Given the description of an element on the screen output the (x, y) to click on. 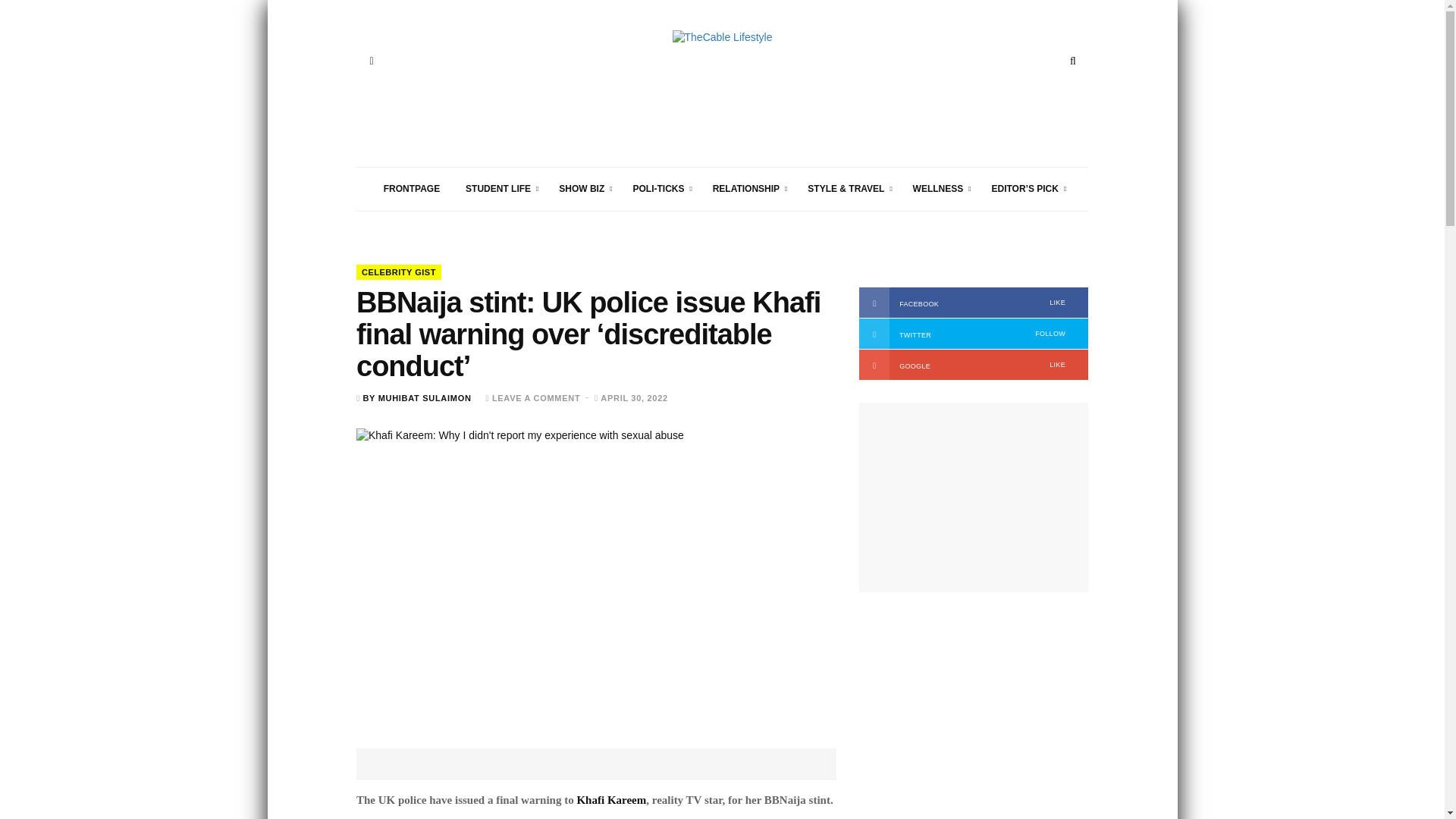
FRONTPAGE (411, 188)
STUDENT LIFE (499, 188)
Search (1072, 60)
POLI-TICKS (659, 188)
SHOW BIZ (582, 188)
